Given the description of an element on the screen output the (x, y) to click on. 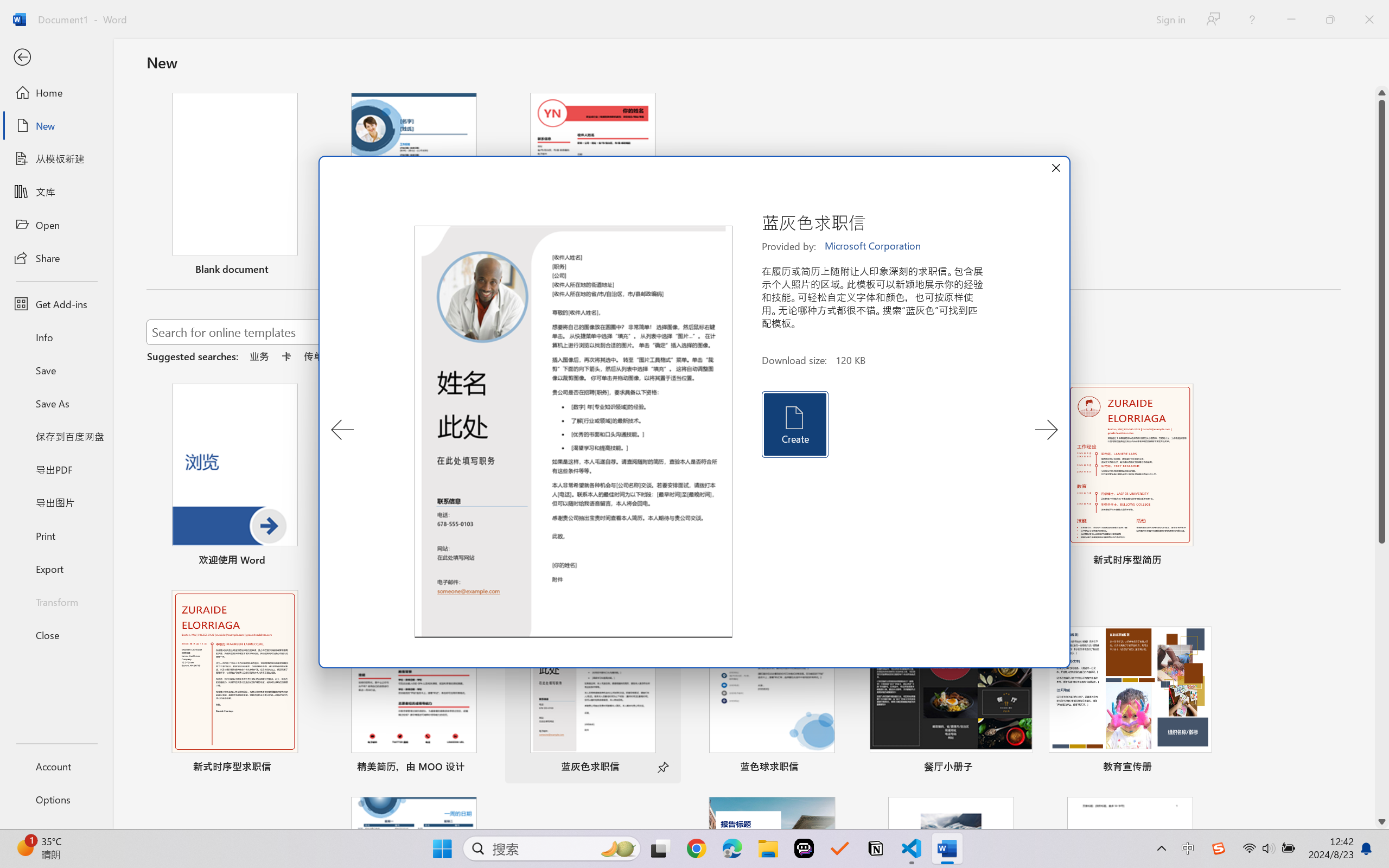
Info (56, 337)
Previous Template (342, 430)
